Given the description of an element on the screen output the (x, y) to click on. 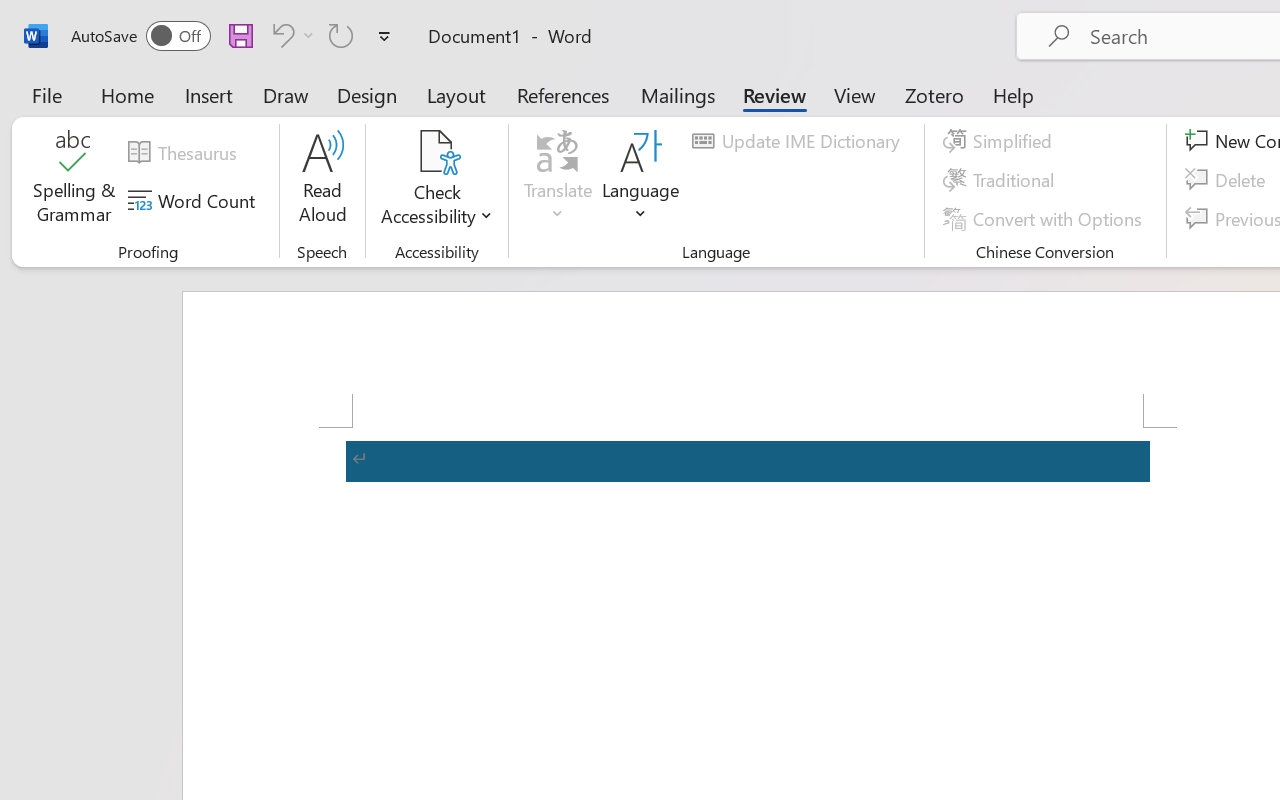
Word Count (194, 201)
Translate (558, 179)
Thesaurus... (185, 153)
